Given the description of an element on the screen output the (x, y) to click on. 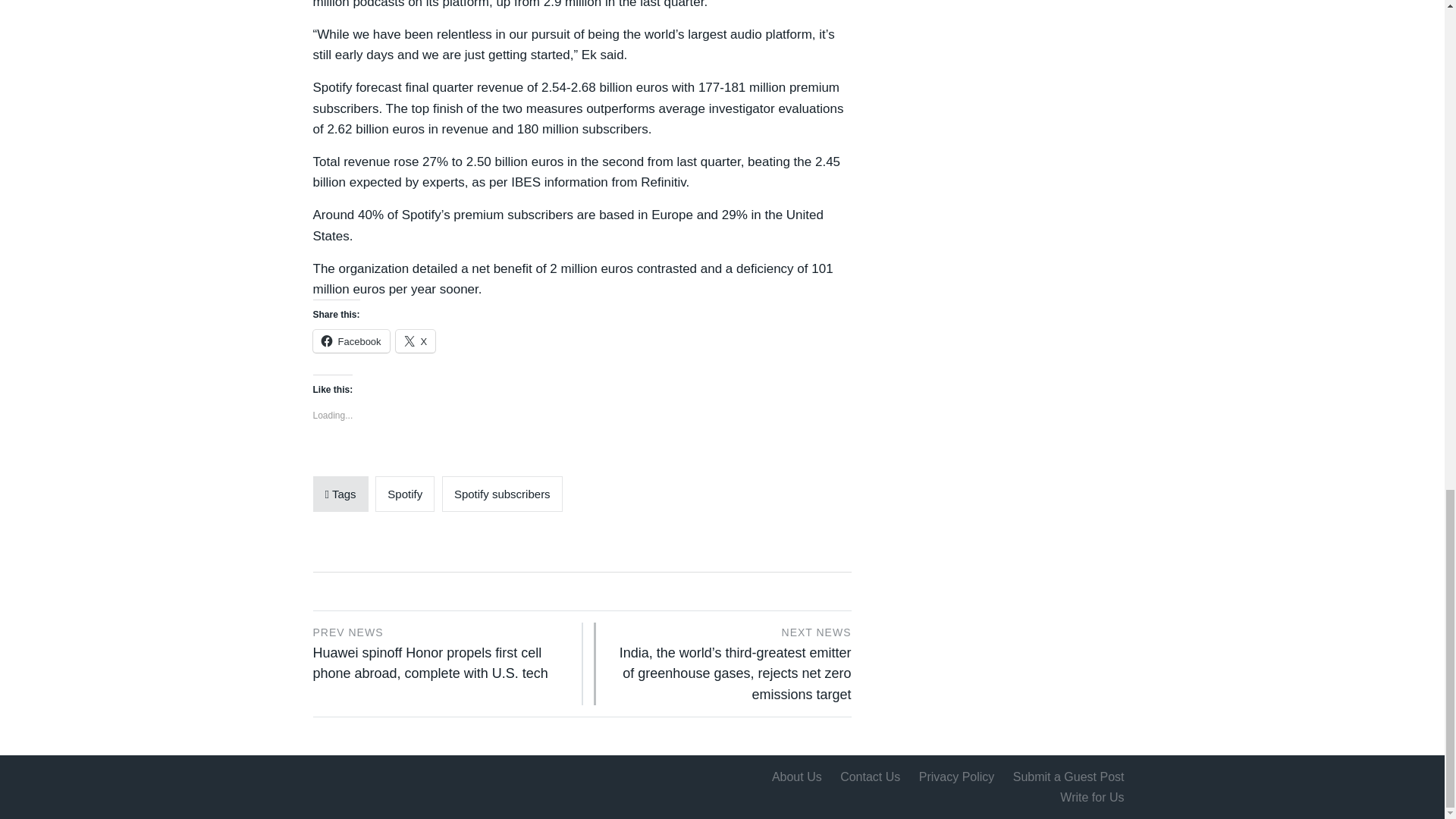
Click to share on X (415, 341)
Click to share on Facebook (350, 341)
X (415, 341)
Spotify (404, 493)
Spotify subscribers (502, 493)
Facebook (350, 341)
